Given the description of an element on the screen output the (x, y) to click on. 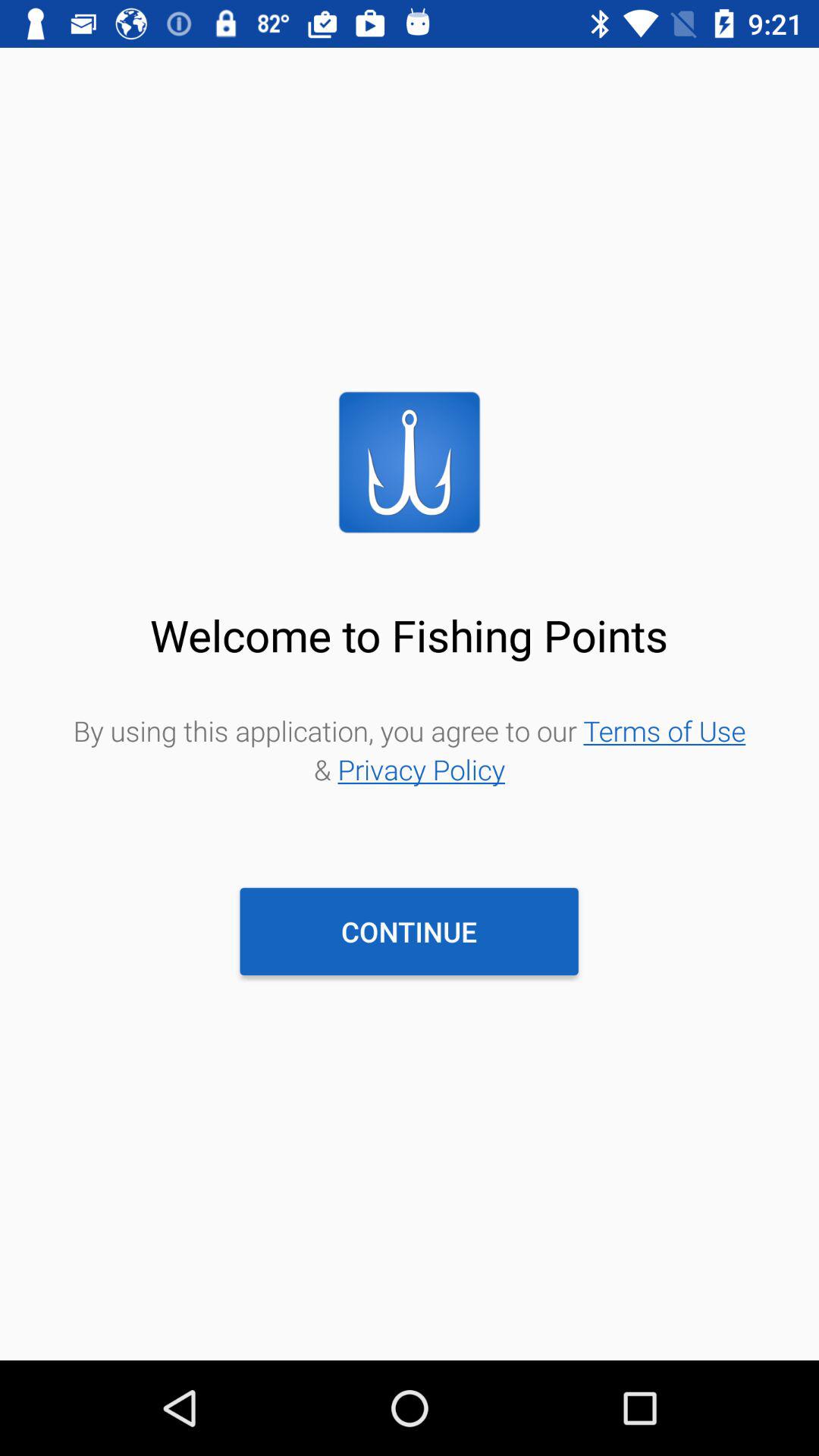
swipe to by using this item (409, 750)
